Given the description of an element on the screen output the (x, y) to click on. 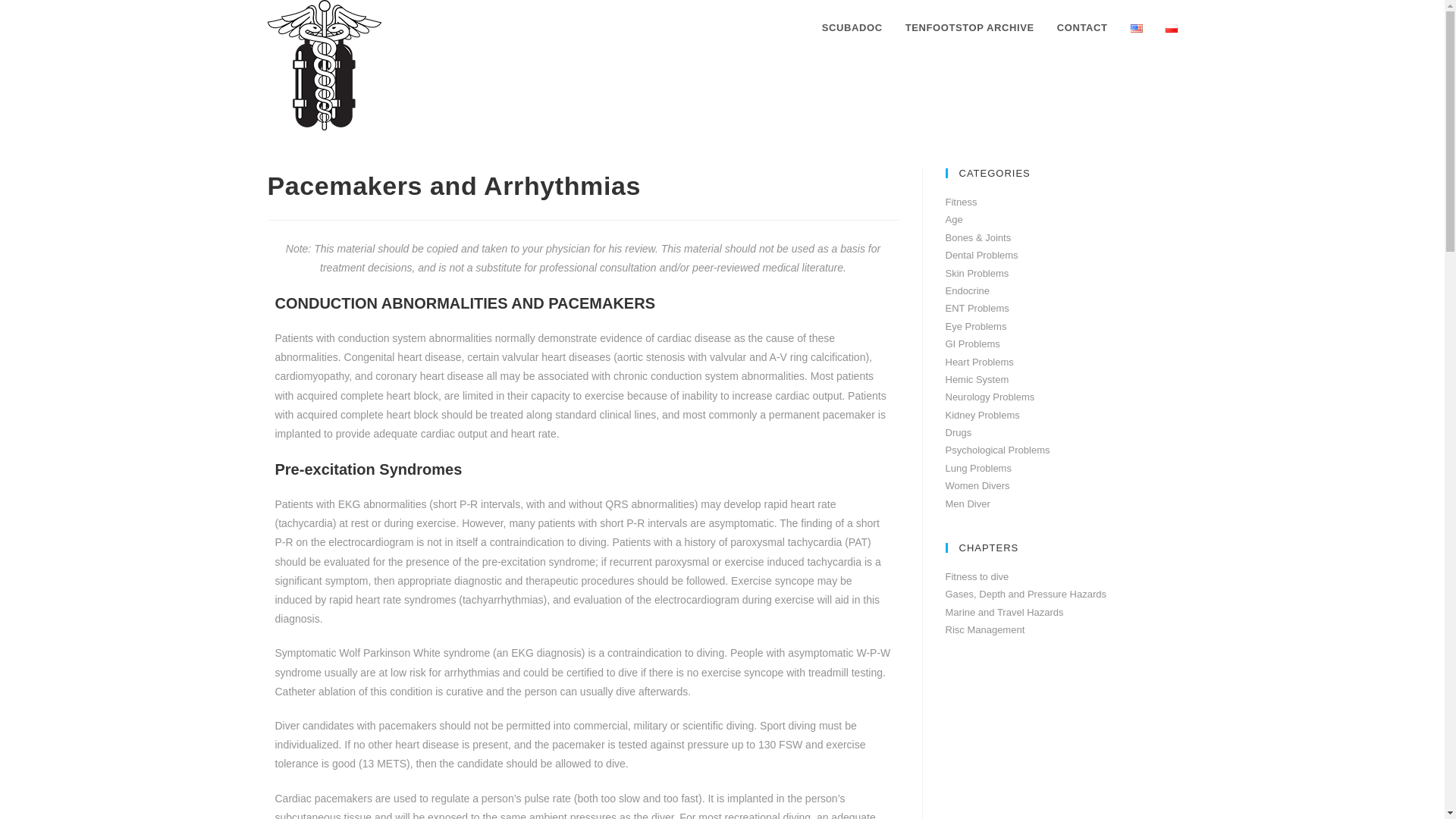
TENFOOTSTOP ARCHIVE (969, 28)
CONTACT (1082, 28)
SCUBADOC (851, 28)
